Given the description of an element on the screen output the (x, y) to click on. 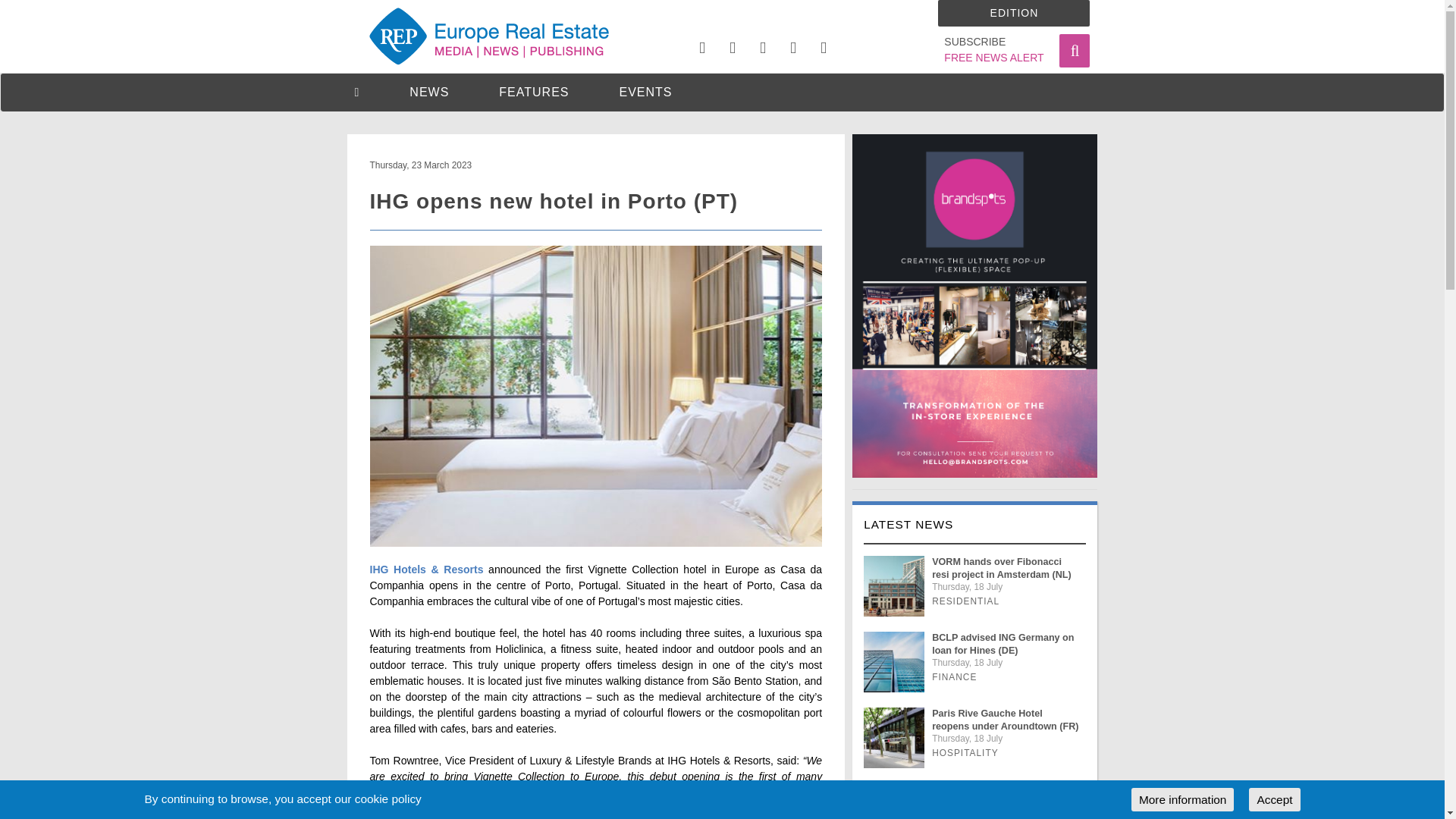
NEWS (428, 91)
EDITION (1013, 13)
FEATURES (533, 91)
